Given the description of an element on the screen output the (x, y) to click on. 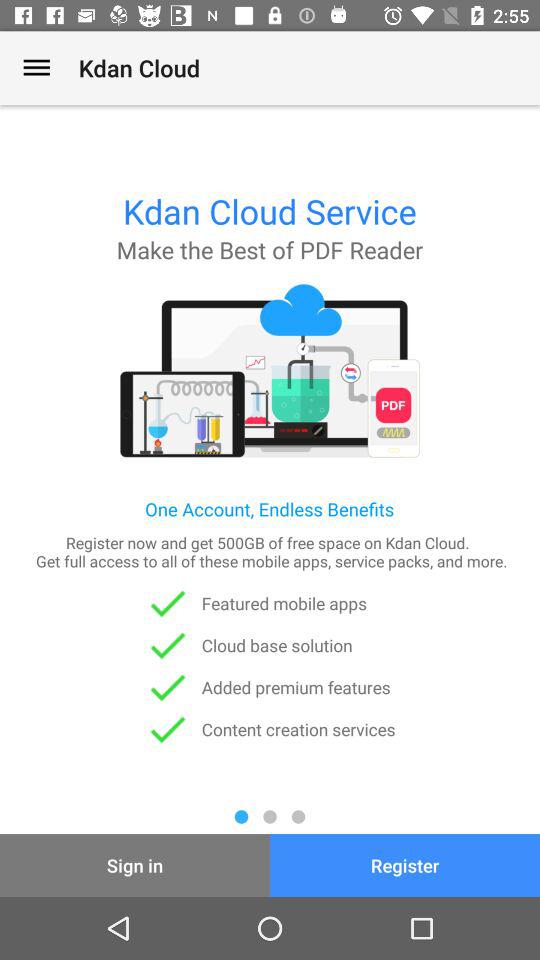
turn on icon above the register now and item (36, 68)
